Given the description of an element on the screen output the (x, y) to click on. 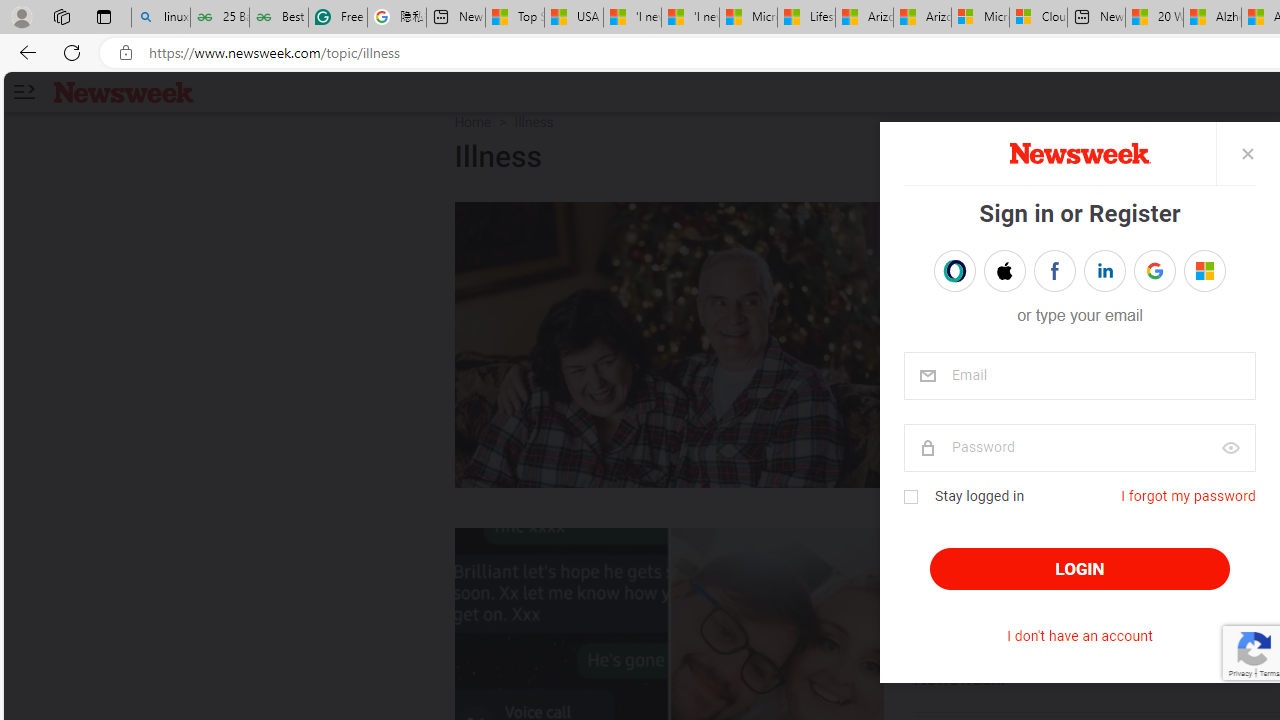
Sign in with APPLE (1004, 270)
Sign in with GOOGLE (1154, 270)
password (1078, 448)
Top Stories - MSN (514, 17)
Newsweek logo (123, 91)
USA TODAY - MSN (573, 17)
Newsweek logo (123, 91)
email (1078, 376)
Microsoft Start (747, 17)
Microsoft (1204, 270)
Cloud Computing Services | Microsoft Azure (1038, 17)
I forgot my password (1187, 496)
New tab (1096, 17)
Sign in as Eugene EugeneLedger601@outlook.com (1204, 270)
